Given the description of an element on the screen output the (x, y) to click on. 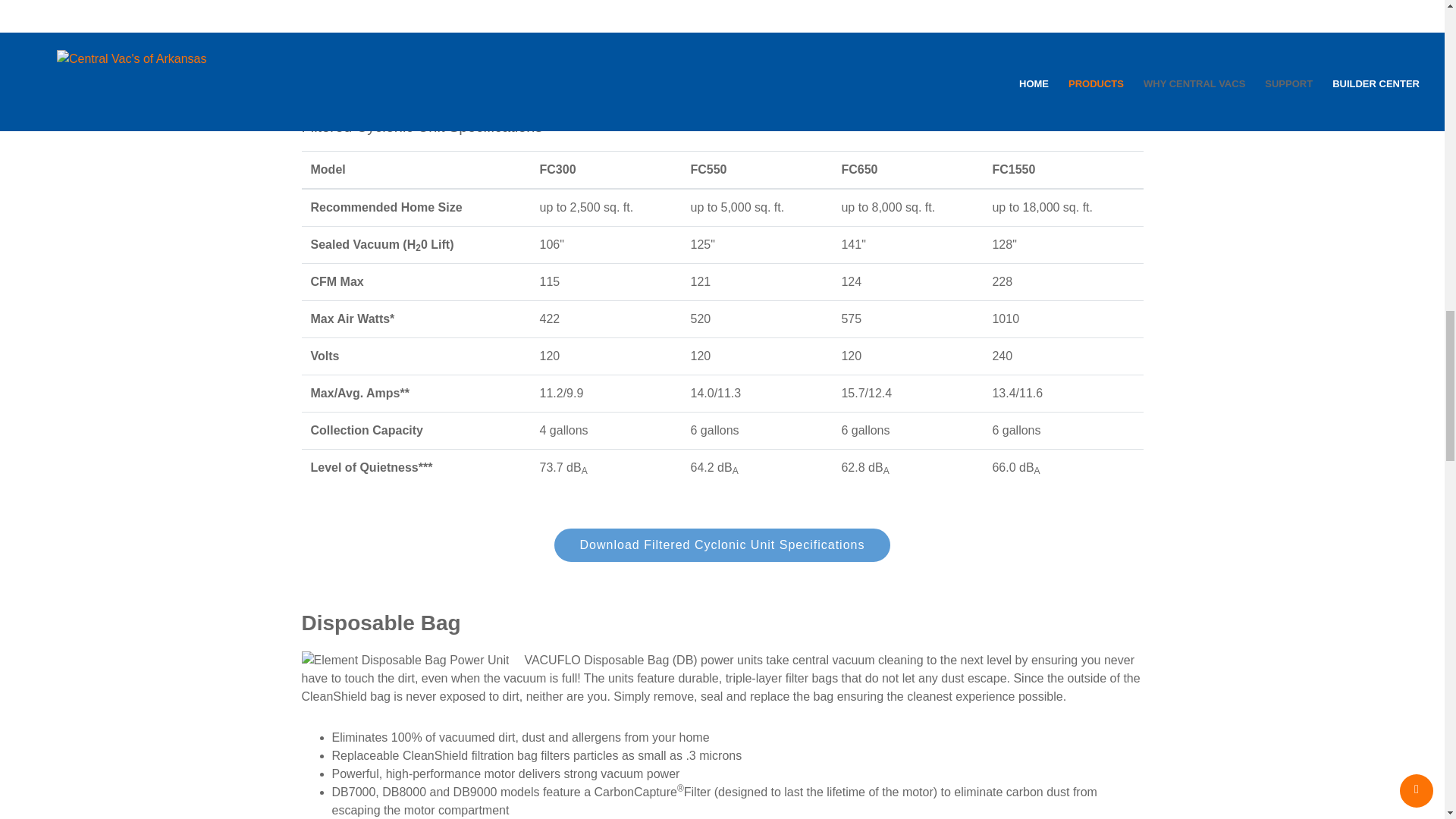
Download Filtered Cyclonic Unit Specifications (722, 544)
